Given the description of an element on the screen output the (x, y) to click on. 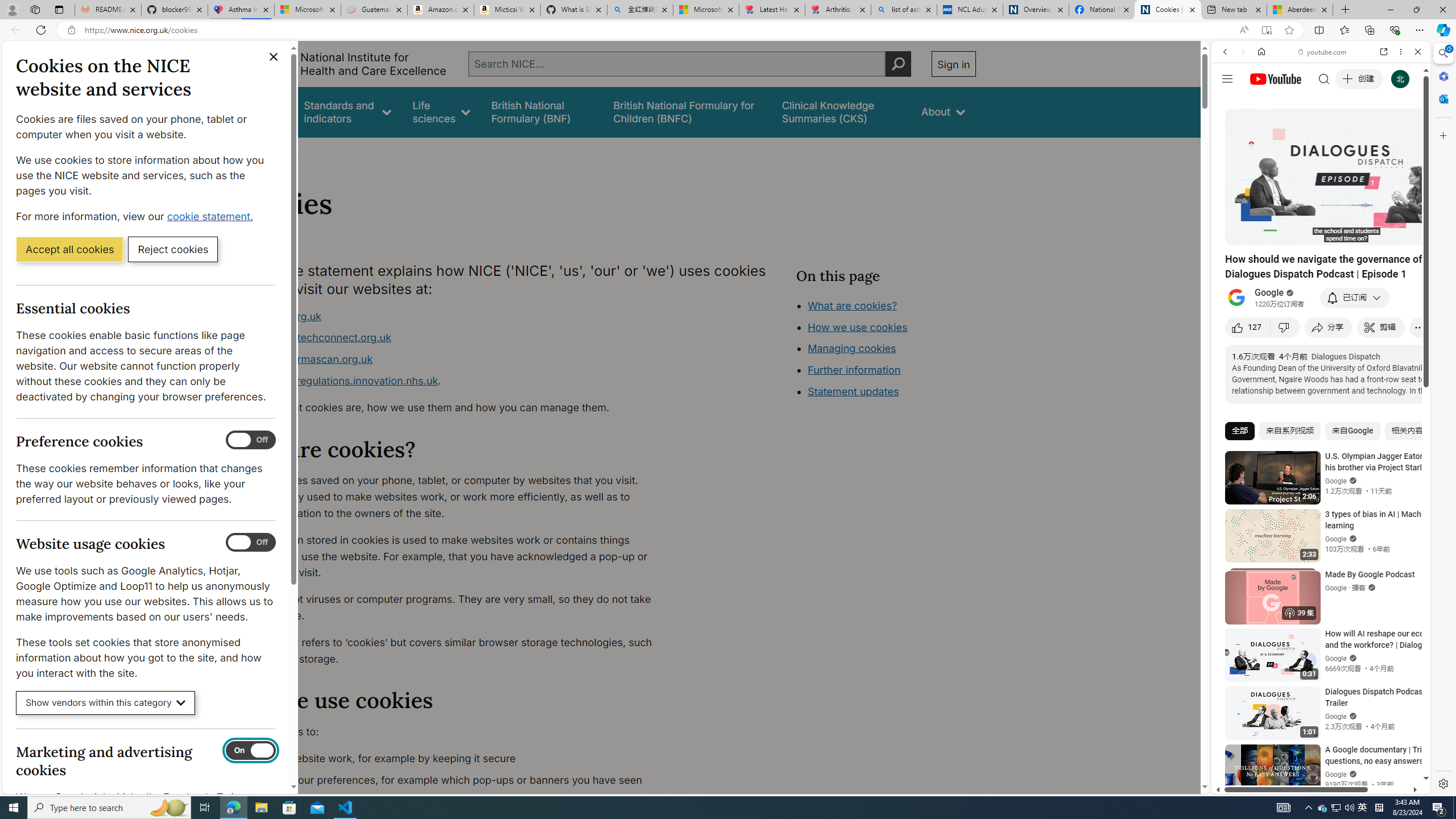
Website usage cookies (250, 542)
WEB   (1230, 130)
Arthritis: Ask Health Professionals (838, 9)
www.nice.org.uk (279, 315)
www.healthtechconnect.org.uk (452, 338)
youtube.com (1322, 51)
Marketing and advertising cookies (250, 750)
Search Filter, Search Tools (1350, 129)
YouTube - YouTube (1315, 560)
Click to scroll right (1407, 456)
